Given the description of an element on the screen output the (x, y) to click on. 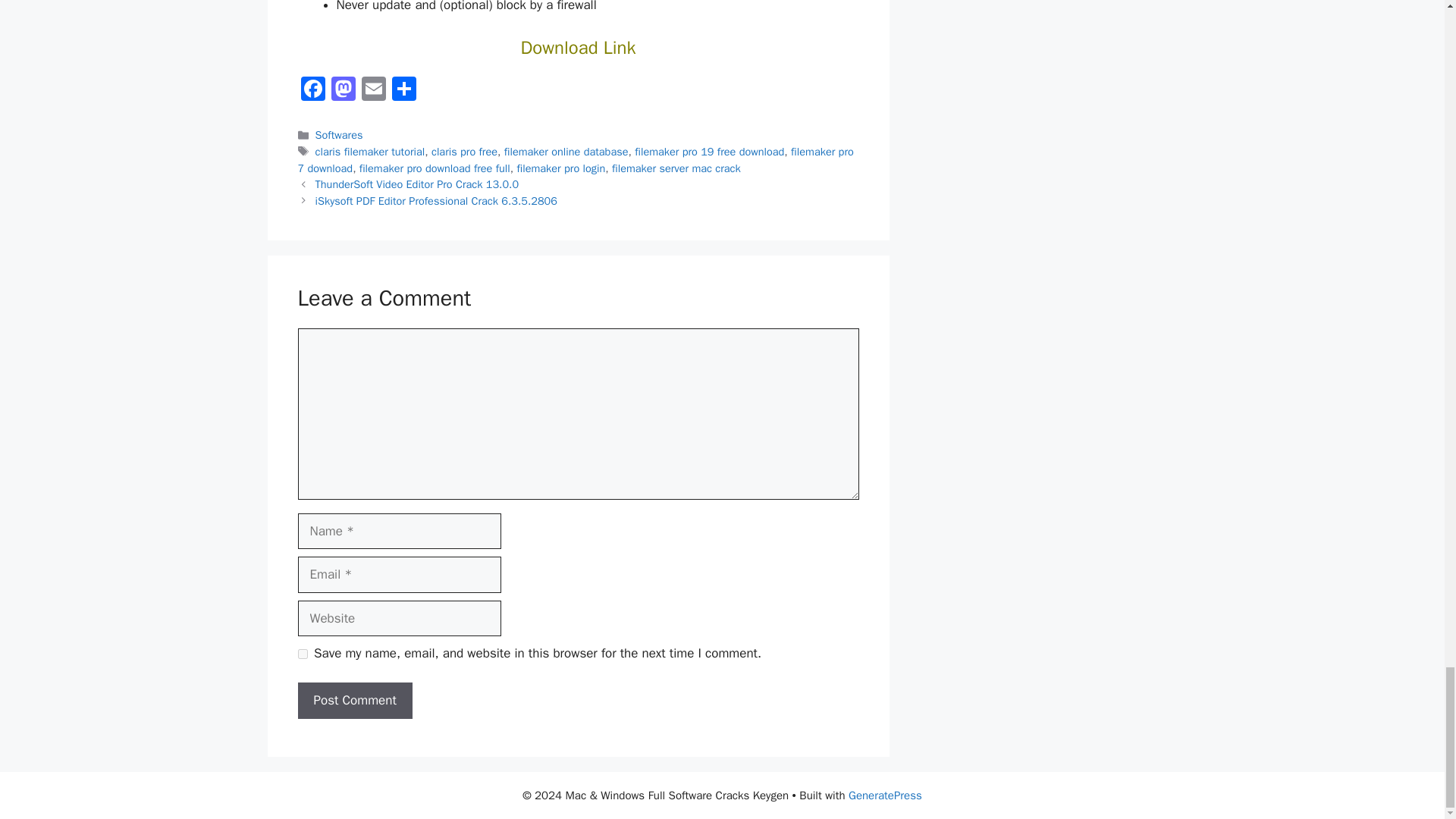
Mastodon (342, 90)
ThunderSoft Video Editor Pro Crack 13.0.0 (416, 183)
claris filemaker tutorial (370, 151)
Next (436, 201)
Facebook (312, 90)
Email (373, 90)
claris pro free (463, 151)
filemaker pro download free full (435, 168)
Post Comment (354, 700)
Download Link (578, 47)
